Given the description of an element on the screen output the (x, y) to click on. 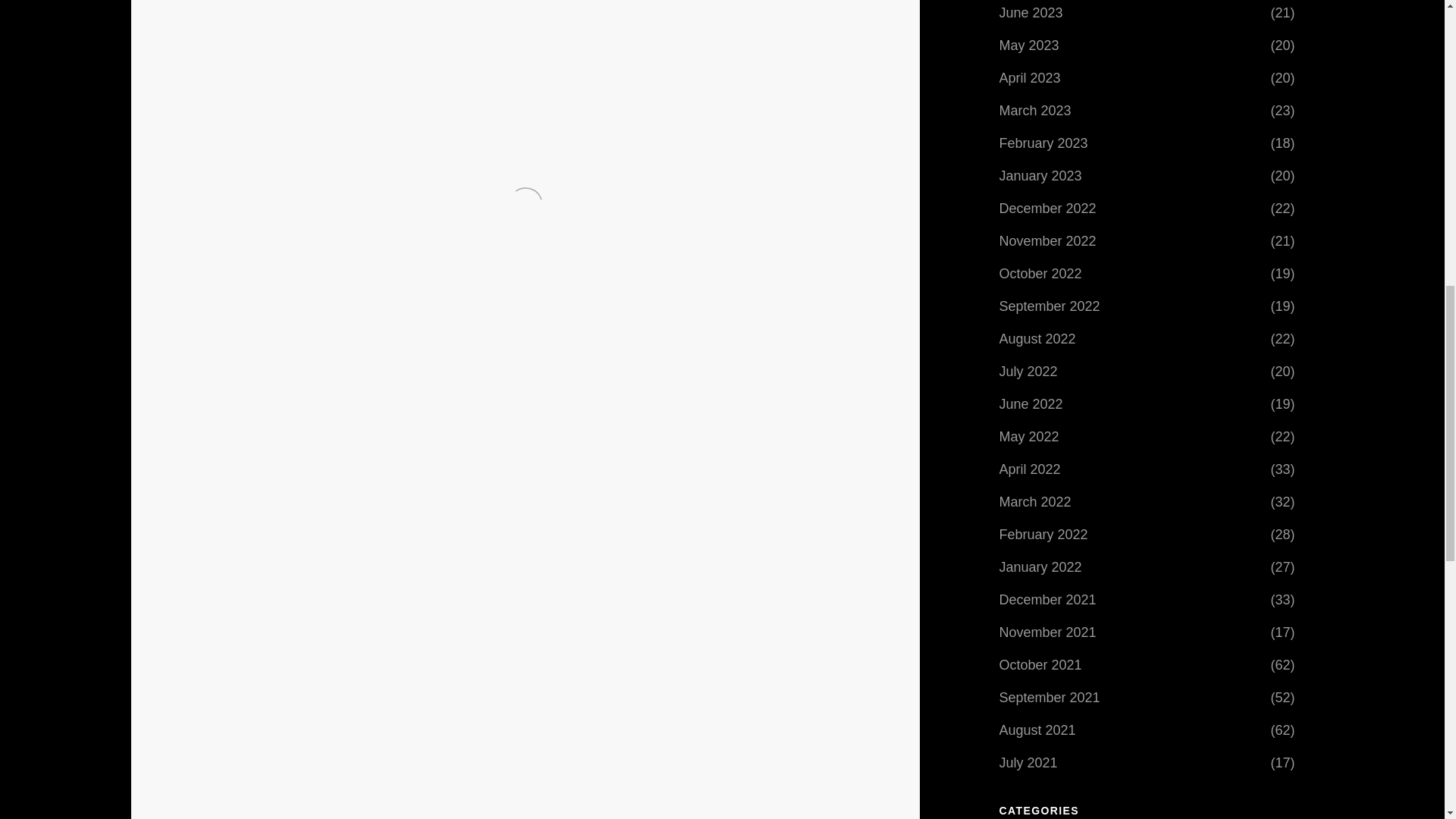
October 2022 (1039, 273)
September 2022 (1049, 306)
August 2022 (1036, 338)
April 2023 (1029, 77)
November 2022 (1047, 240)
June 2023 (1030, 13)
January 2023 (1039, 175)
February 2023 (1042, 143)
May 2023 (1028, 44)
March 2023 (1034, 110)
July 2022 (1028, 370)
December 2022 (1047, 207)
